Given the description of an element on the screen output the (x, y) to click on. 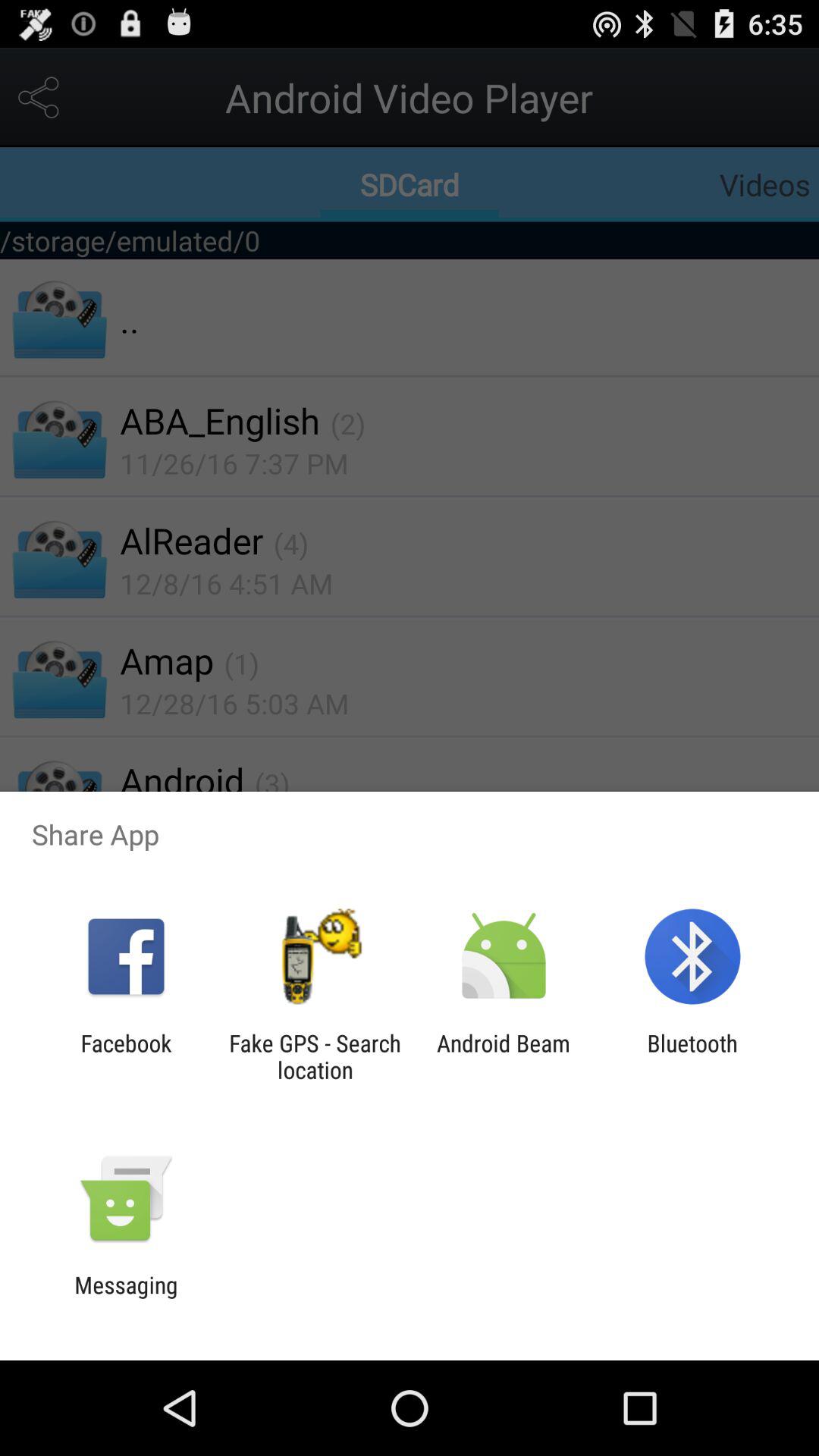
turn on item next to the android beam icon (314, 1056)
